Given the description of an element on the screen output the (x, y) to click on. 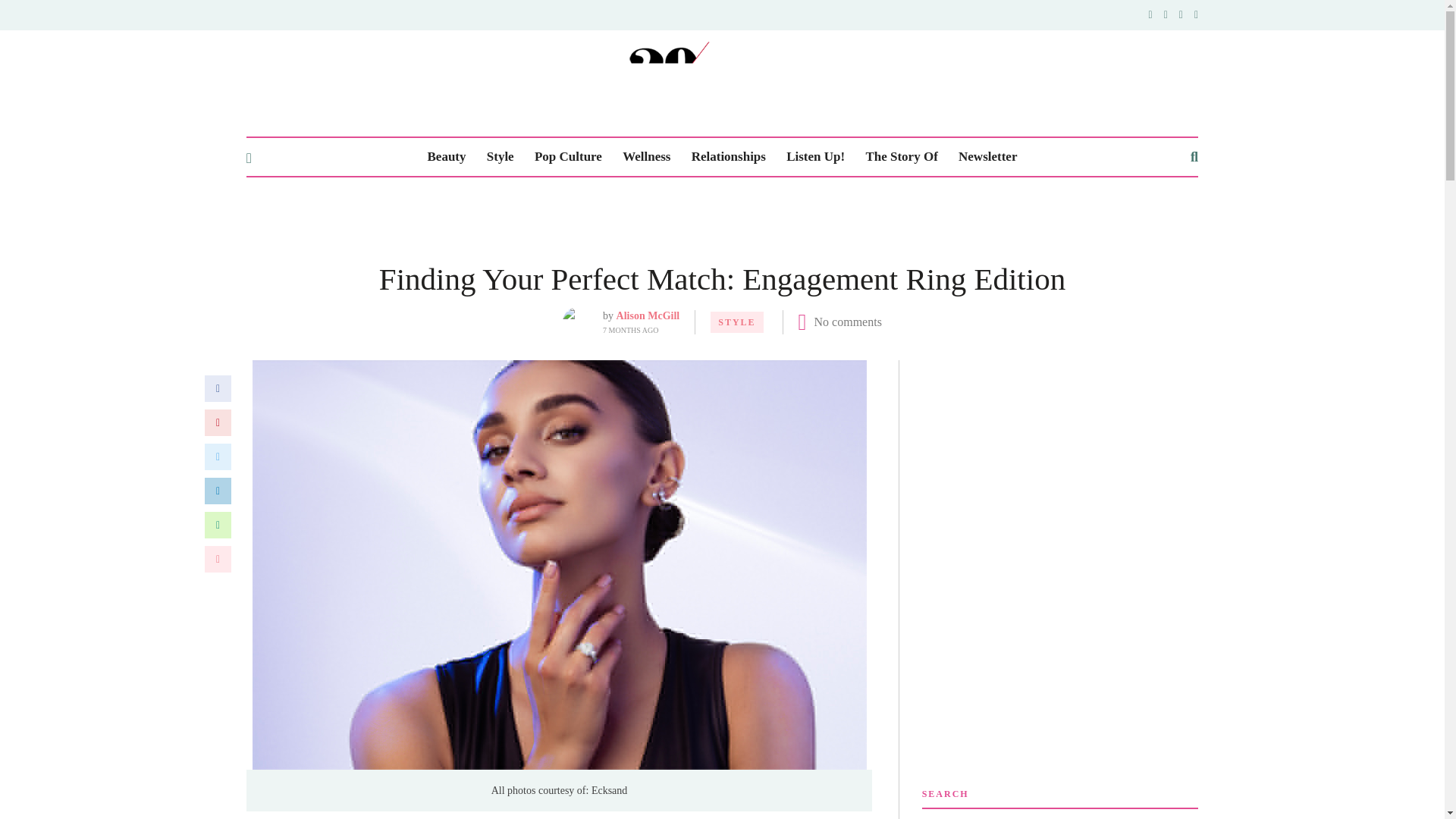
Newsletter (987, 157)
Pop Culture (568, 157)
No comments (847, 321)
STYLE (736, 322)
Wellness (646, 157)
Relationships (728, 157)
The Story Of (900, 157)
Alison McGill (647, 315)
29Secrets (721, 81)
Listen Up! (815, 157)
